Given the description of an element on the screen output the (x, y) to click on. 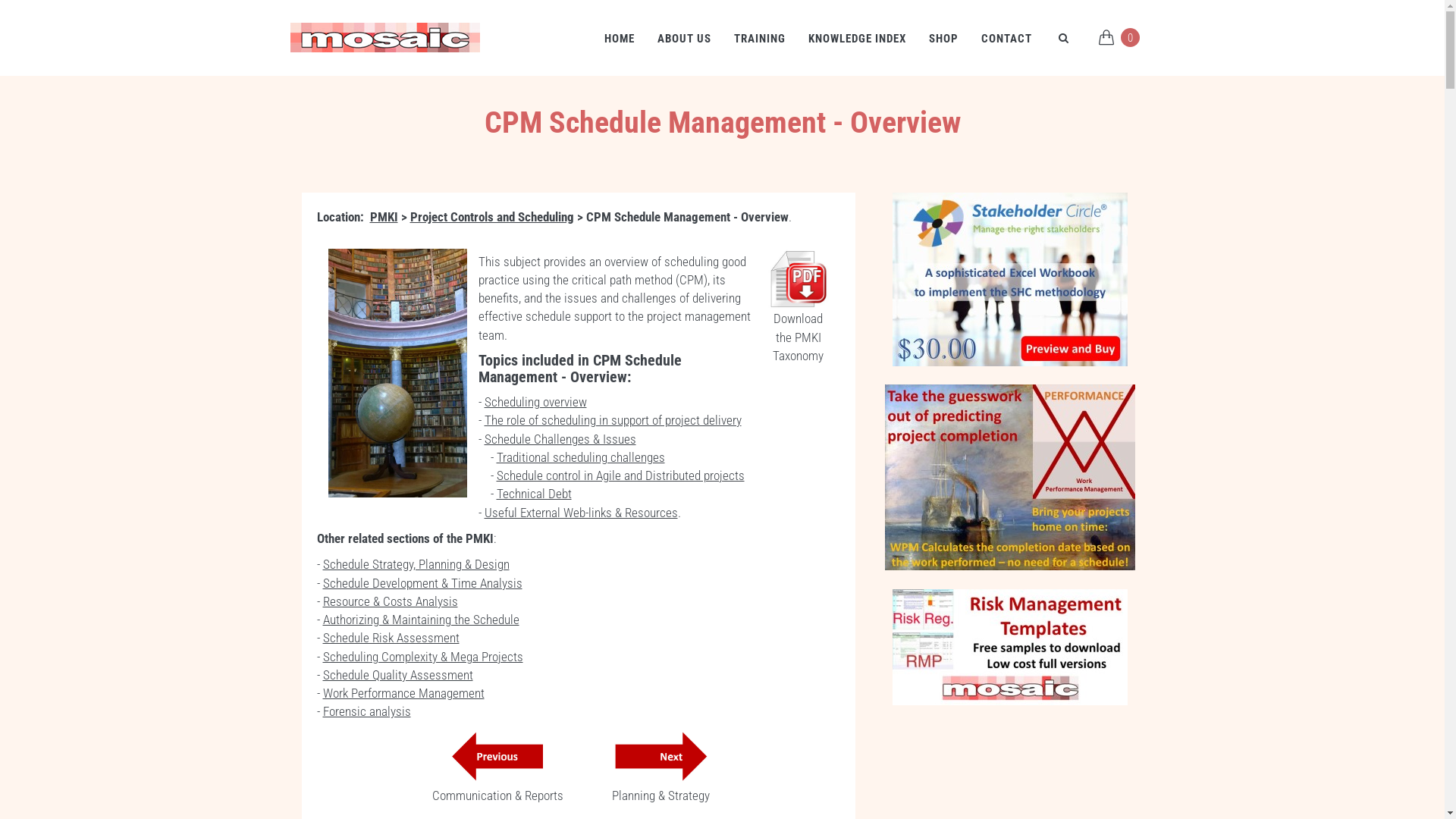
Download
the PMKI
Taxonomy Element type: text (797, 336)
Scheduling Complexity & Mega Projects Element type: text (423, 656)
Risk Register Element type: hover (1009, 647)
Schedule Development & Time Analysis Element type: text (422, 581)
ABOUT US Element type: text (684, 37)
0 Element type: text (1119, 39)
Planning & Strategy Element type: text (660, 795)
PMKI Element type: text (384, 216)
Schedule control in Agile and Distributed projects Element type: text (619, 475)
The role of scheduling in support of project delivery Element type: text (611, 419)
Schedule Strategy, Planning & Design Element type: text (416, 563)
Traditional scheduling challenges Element type: text (579, 456)
Schedule Quality Assessment Element type: text (398, 674)
HOME Element type: text (619, 37)
Work Performance Management Element type: text (403, 692)
TRAINING Element type: text (758, 37)
Communication & Reports Element type: text (497, 795)
Authorizing & Maintaining the Schedule Element type: text (421, 619)
The PMKI Library Element type: hover (396, 372)
KNOWLEDGE INDEX Element type: text (856, 37)
Schedule Challenges & Issues Element type: text (559, 438)
SHOP Element type: text (943, 37)
Useful External Web-links & Resources Element type: text (580, 512)
Technical Debt Element type: text (533, 493)
Scheduling overview Element type: text (534, 401)
Forensic analysis Element type: text (367, 710)
CONTACT Element type: text (1005, 37)
PMKI Index Element type: hover (797, 278)
Resource & Costs Analysis Element type: text (390, 600)
Project Controls and Scheduling Element type: text (491, 216)
Work Performance Management Element type: hover (1009, 477)
Easy Stakeholder Management Element type: hover (1009, 279)
Schedule Risk Assessment Element type: text (391, 637)
